Given the description of an element on the screen output the (x, y) to click on. 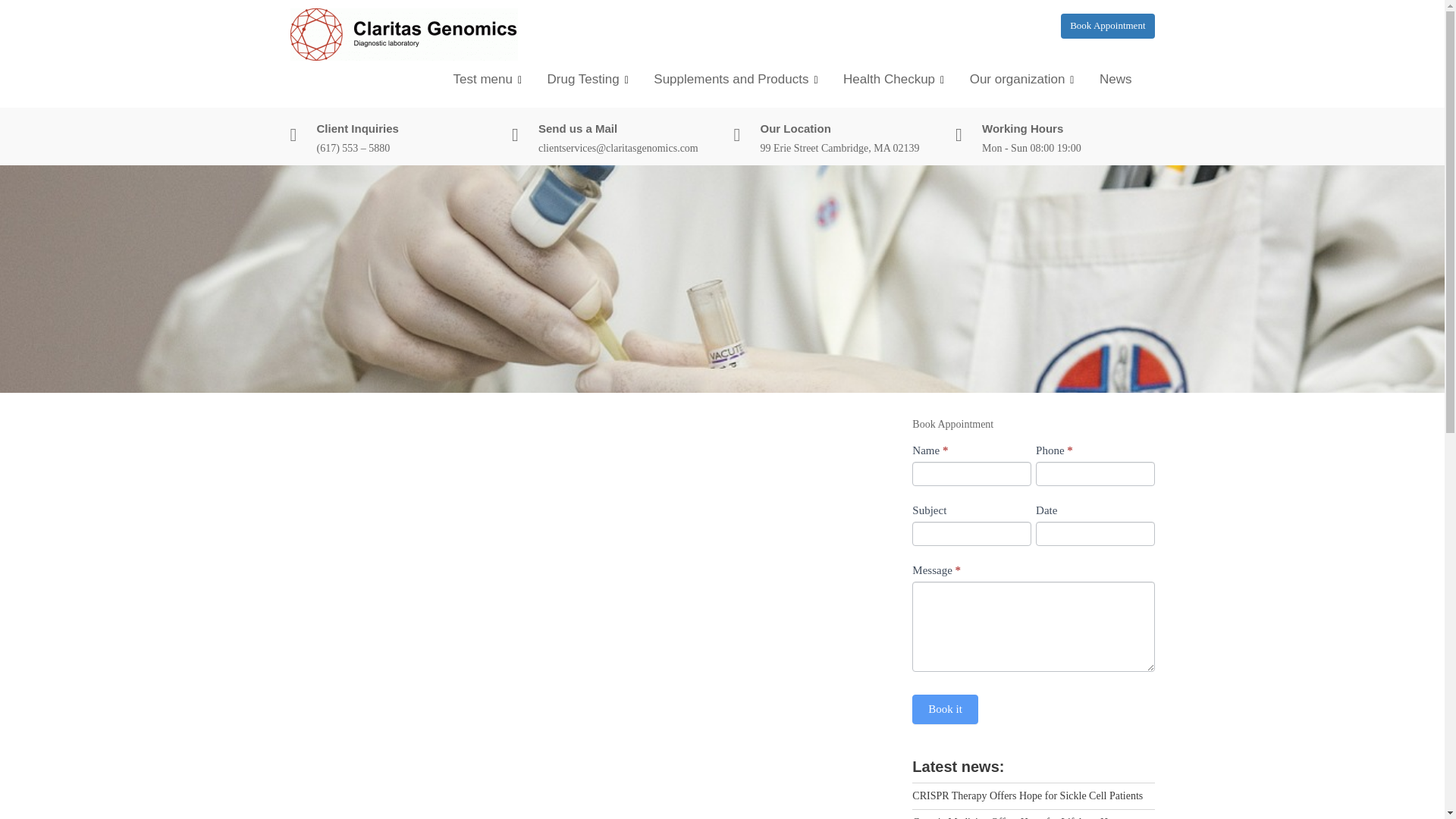
Supplements and Products (735, 79)
Health Checkup (893, 79)
Book Appointment (1107, 25)
Drug Testing (587, 79)
Test menu (486, 79)
